Given the description of an element on the screen output the (x, y) to click on. 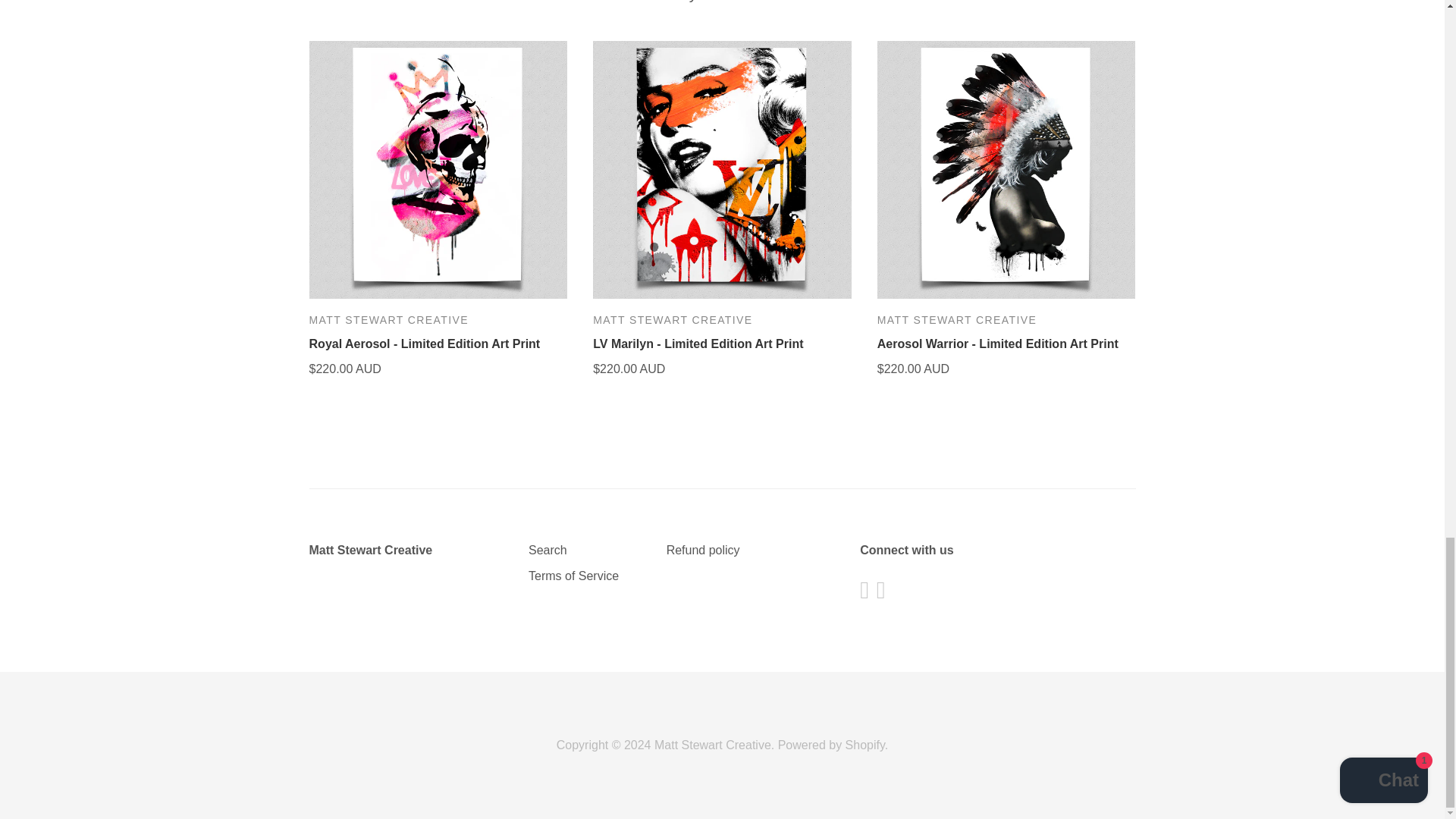
LV Marilyn - Limited Edition Art Print (697, 343)
MATT STEWART CREATIVE (388, 319)
MATT STEWART CREATIVE (956, 319)
Aerosol Warrior - Limited Edition Art Print (997, 343)
Matt Stewart Creative (370, 549)
Terms of Service (573, 575)
MATT STEWART CREATIVE (672, 319)
Search (547, 549)
Royal Aerosol - Limited Edition Art Print (424, 343)
Refund policy (702, 549)
